Given the description of an element on the screen output the (x, y) to click on. 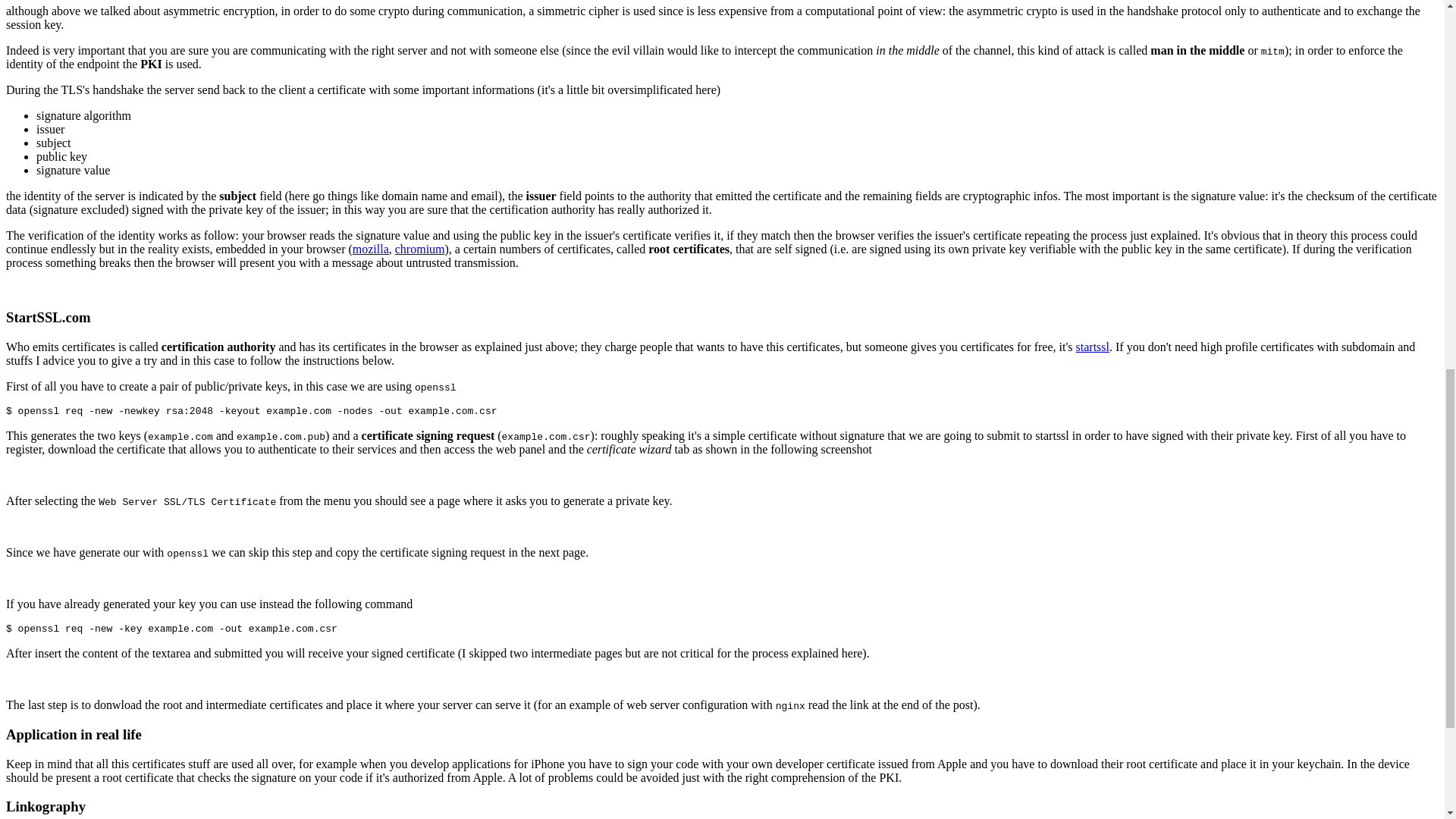
startssl (1092, 346)
chromium (419, 248)
mozilla (370, 248)
